Given the description of an element on the screen output the (x, y) to click on. 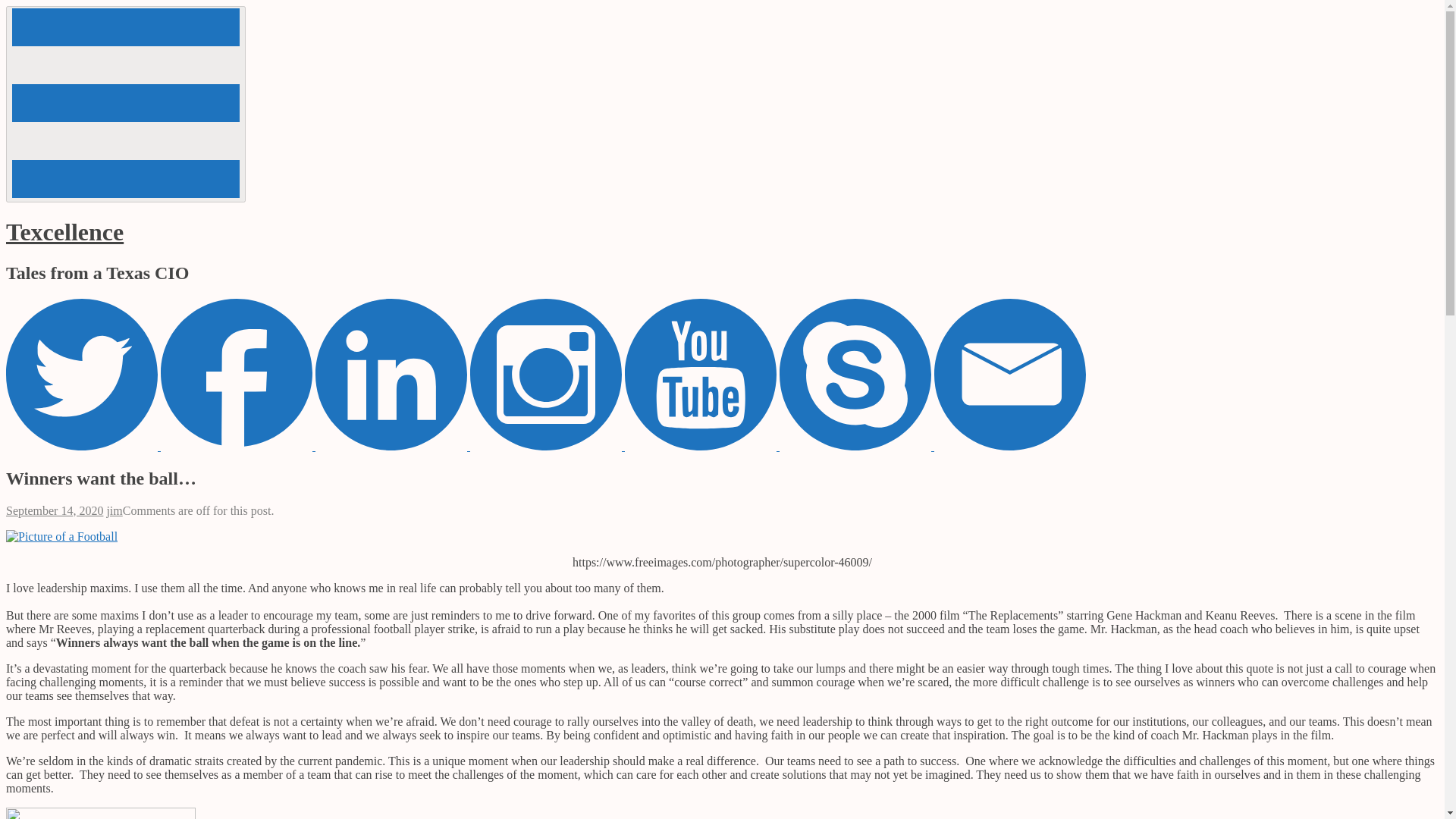
Texcellence (64, 231)
Show sidebar (54, 510)
Texcellence (125, 103)
jim (64, 231)
